Given the description of an element on the screen output the (x, y) to click on. 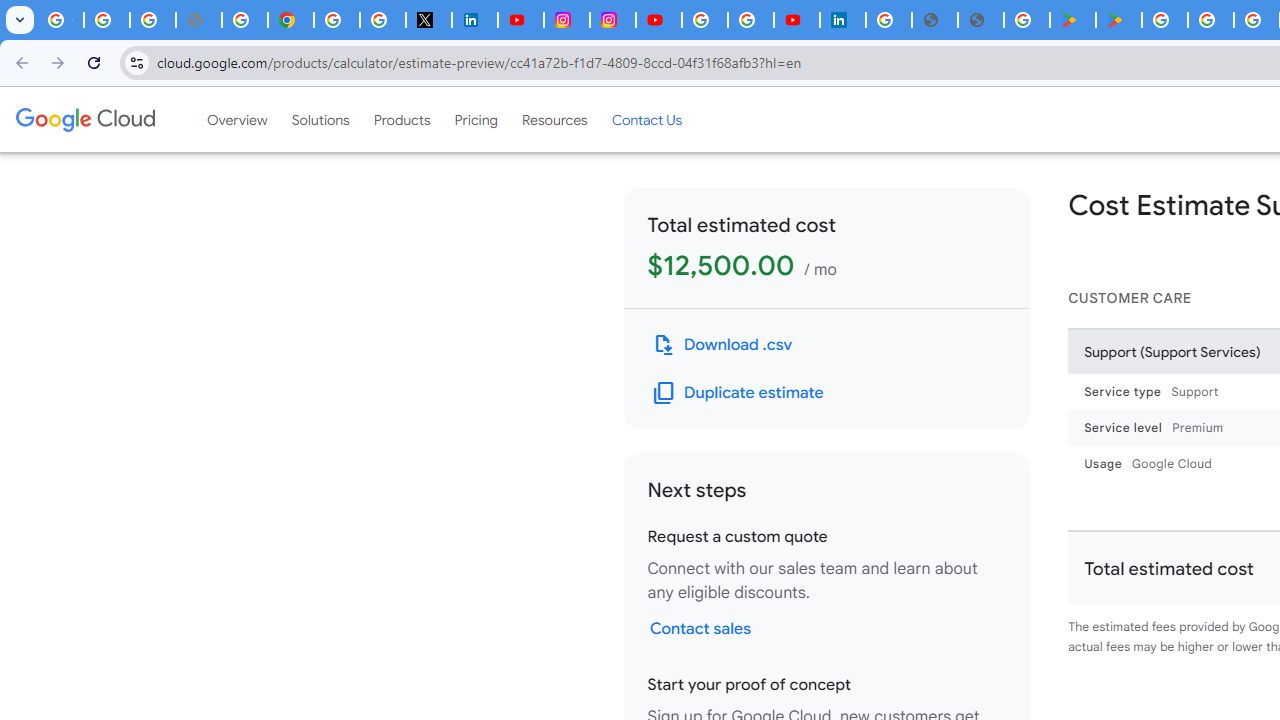
Sign in - Google Accounts (705, 20)
Pricing (476, 119)
Resources (553, 119)
Android Apps on Google Play (1072, 20)
support.google.com - Network error (198, 20)
YouTube Content Monetization Policies - How YouTube Works (520, 20)
Privacy Help Center - Policies Help (244, 20)
